Given the description of an element on the screen output the (x, y) to click on. 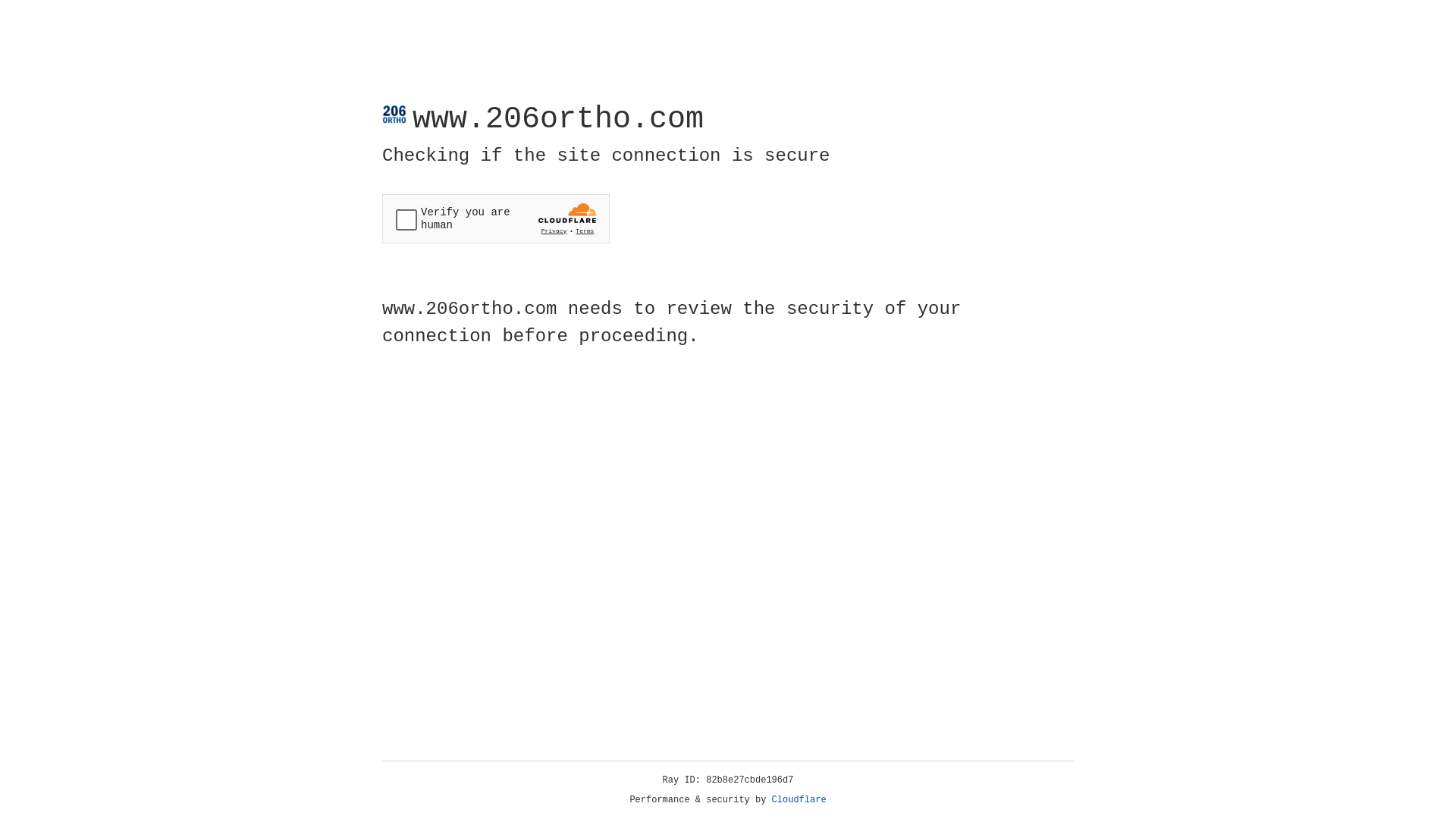
Cloudflare Element type: text (798, 799)
Widget containing a Cloudflare security challenge Element type: hover (495, 218)
